Given the description of an element on the screen output the (x, y) to click on. 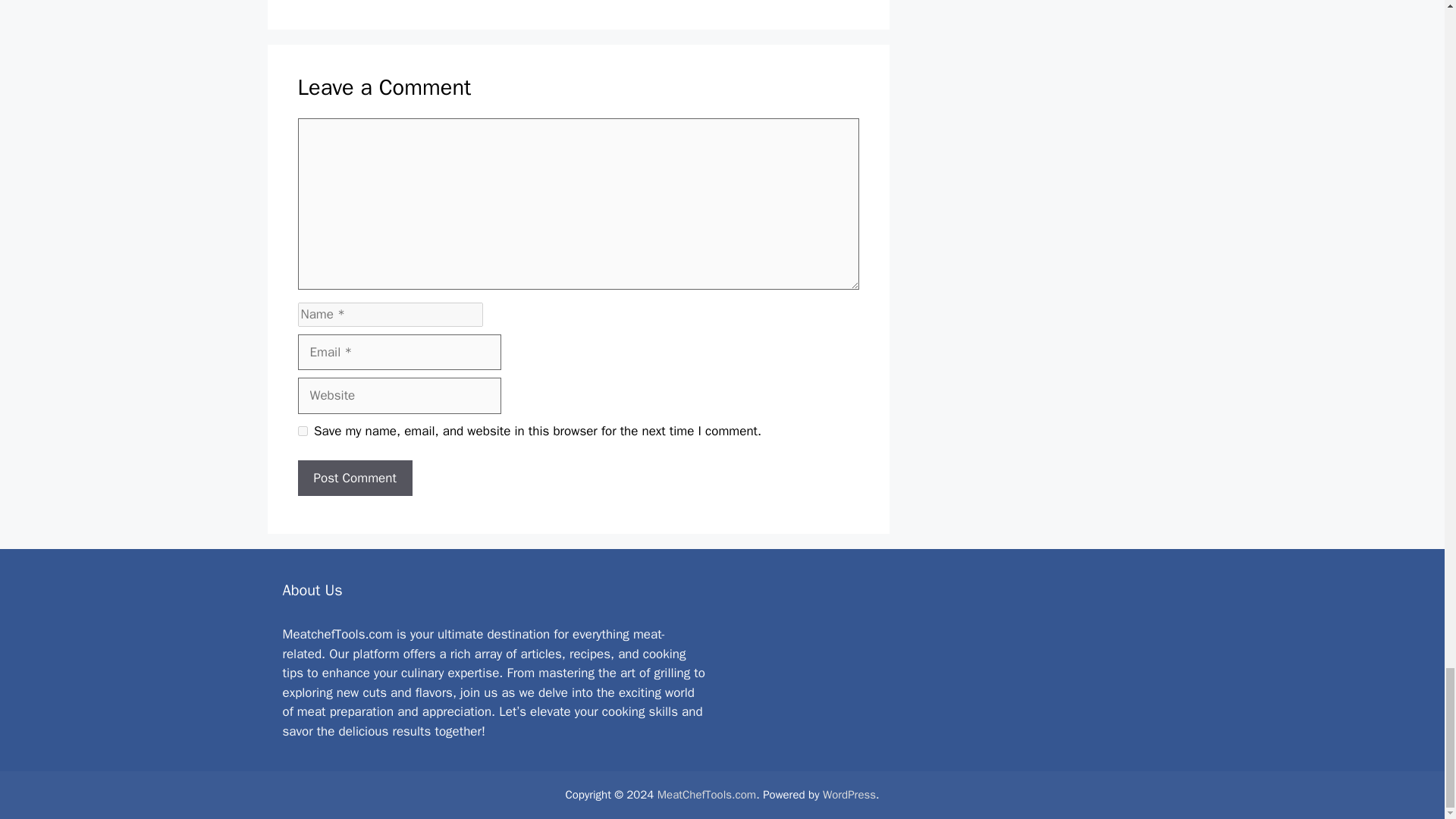
Post Comment (354, 478)
yes (302, 430)
Post Comment (354, 478)
MeatChefTools.com (706, 794)
WordPress (849, 794)
